Given the description of an element on the screen output the (x, y) to click on. 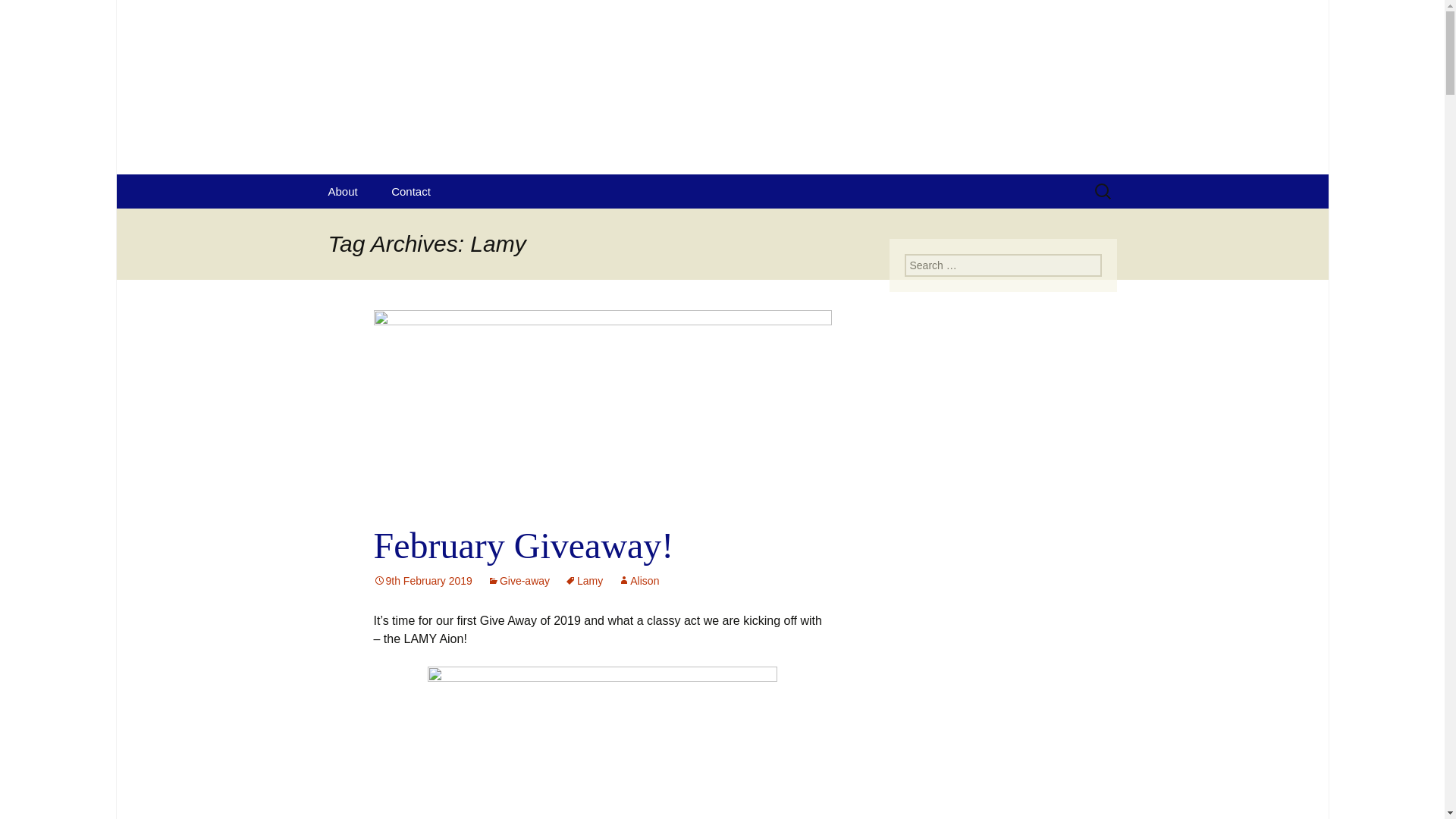
Permalink to February Giveaway! (34, 15)
Give-away (421, 580)
Contact (518, 580)
About (410, 191)
View all posts by Alison (342, 191)
Lamy (638, 580)
United Inkdom (583, 580)
9th February 2019 (18, 15)
Skip to content (421, 580)
February Giveaway! (638, 580)
